Given the description of an element on the screen output the (x, y) to click on. 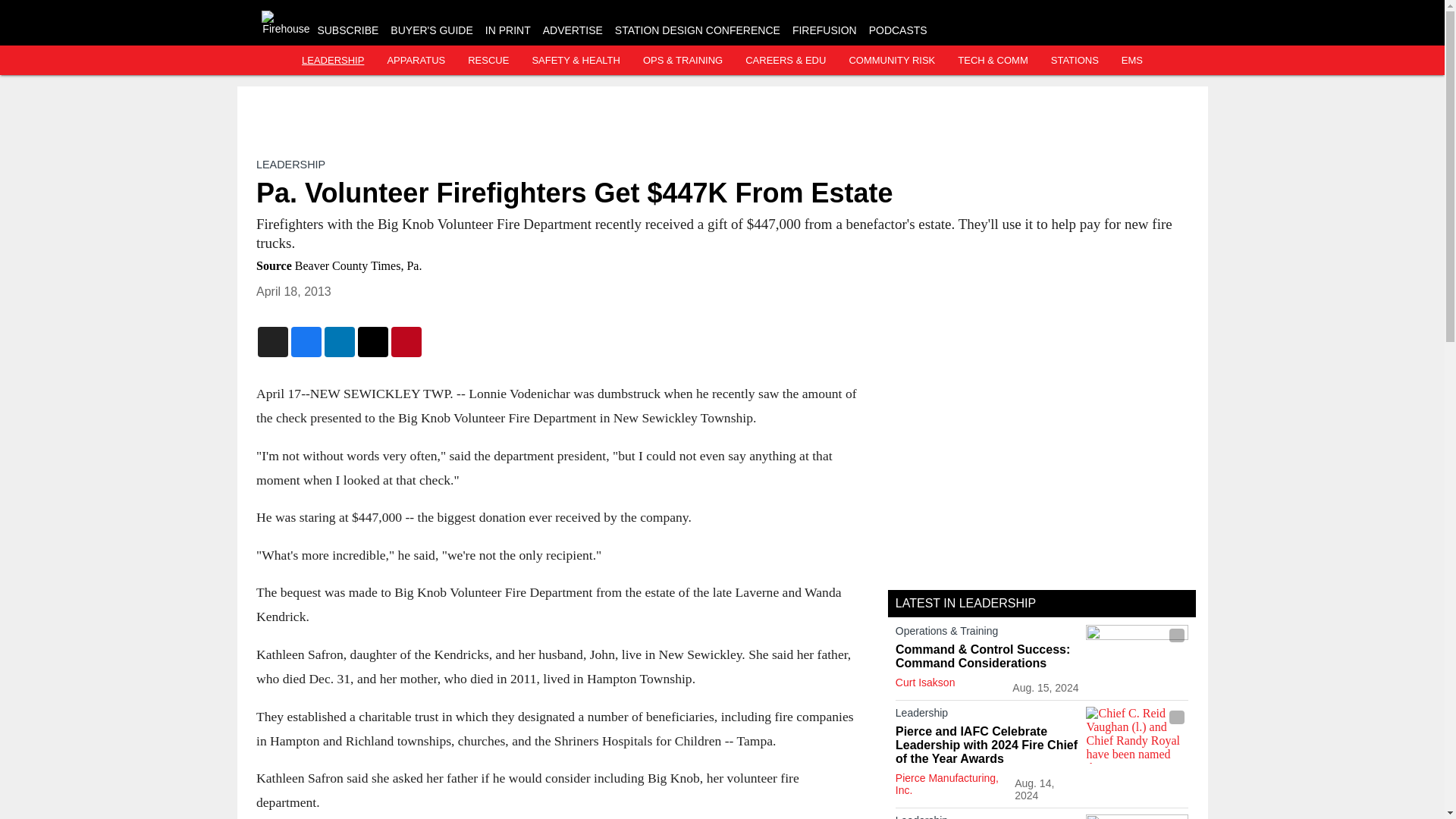
Curt Isakson (925, 682)
FIREFUSION (824, 30)
LATEST IN LEADERSHIP (965, 603)
EMS (1131, 60)
Leadership (986, 715)
STATION DESIGN CONFERENCE (697, 30)
RESCUE (487, 60)
PODCASTS (898, 30)
LEADERSHIP (290, 164)
Leadership (986, 816)
